Given the description of an element on the screen output the (x, y) to click on. 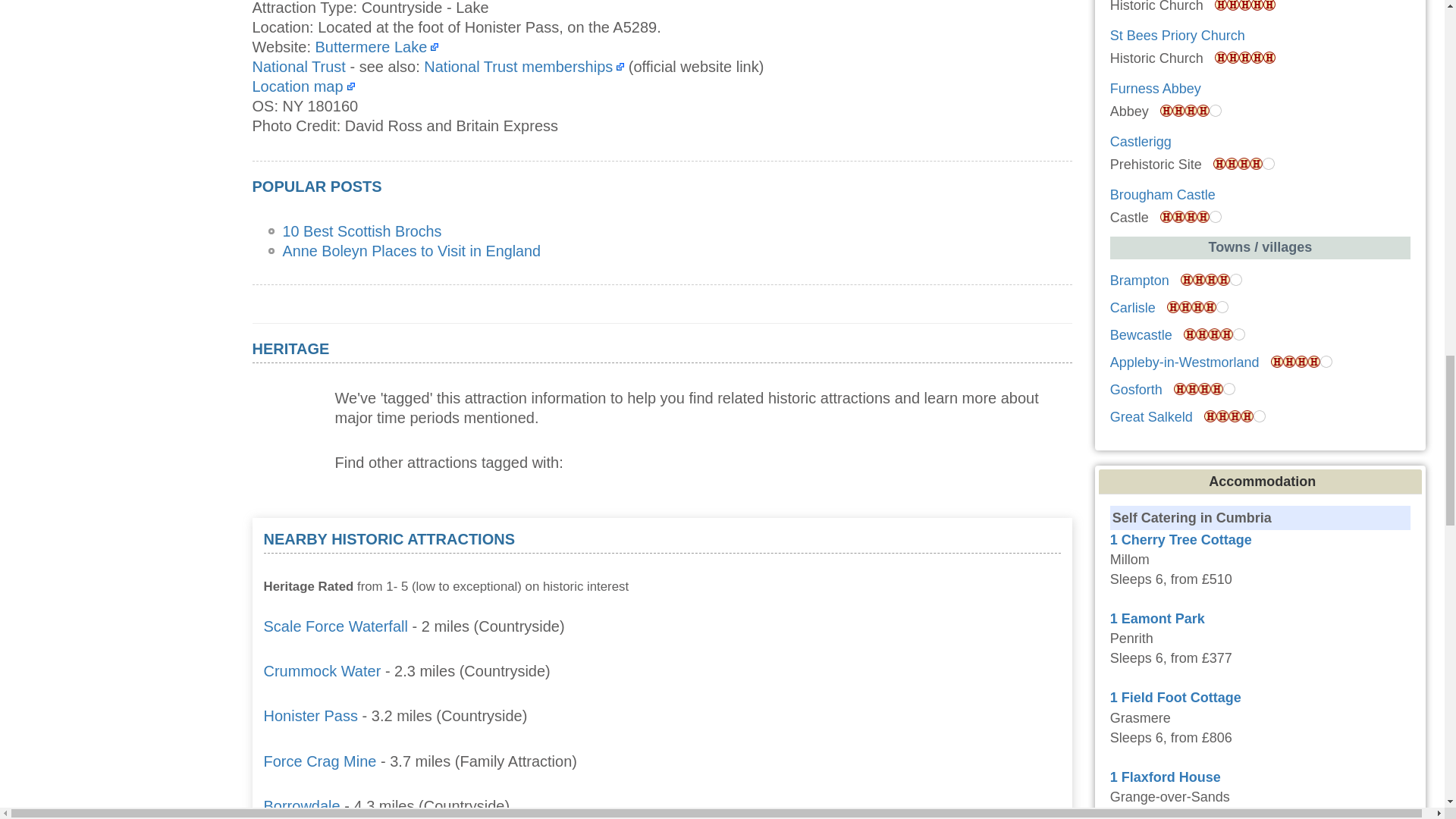
Borrowdale, Countryside (301, 805)
Force Crag Mine, Family Attraction (320, 760)
Honister Pass, Countryside (310, 715)
